Given the description of an element on the screen output the (x, y) to click on. 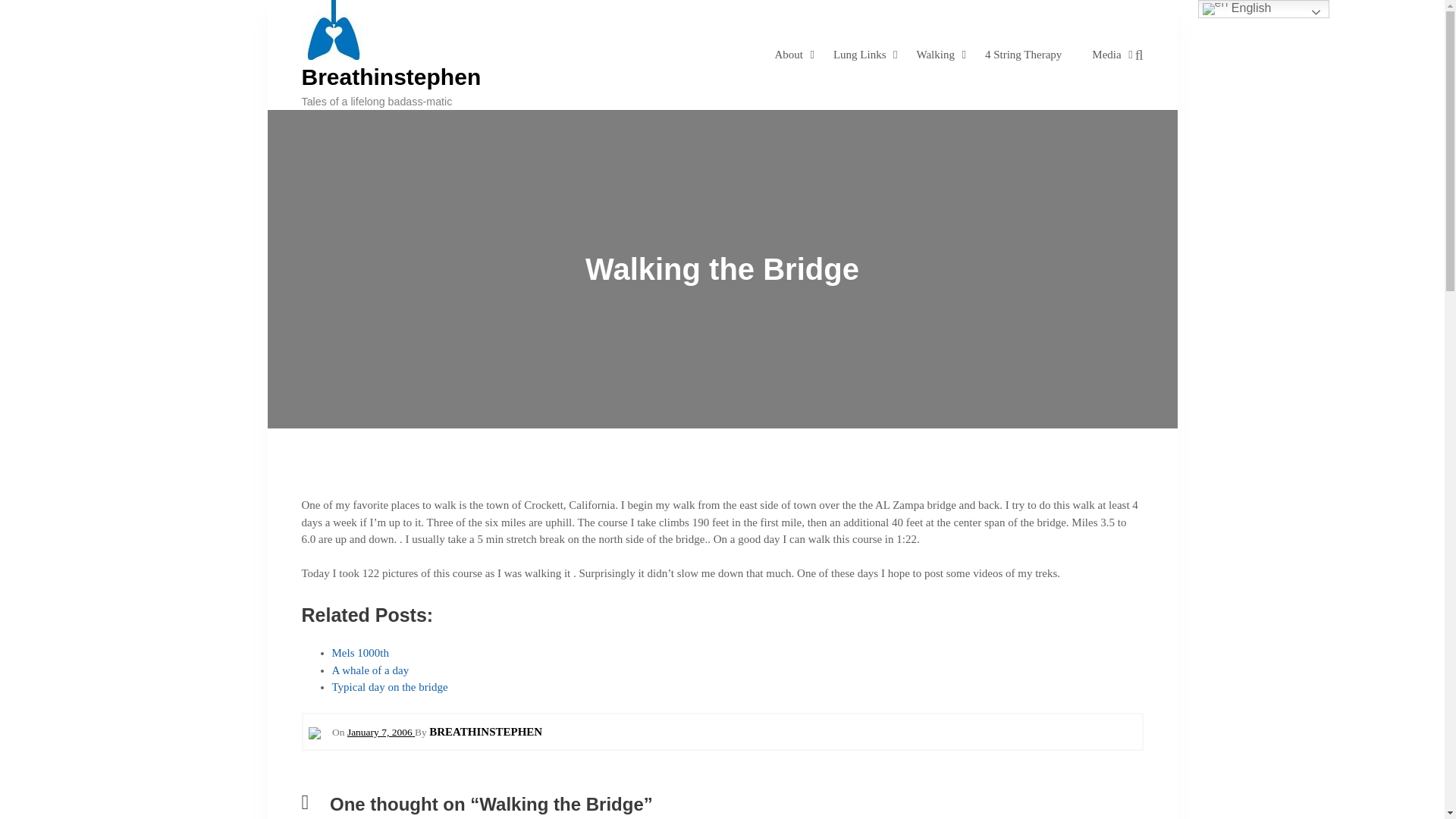
BREATHINSTEPHEN (485, 731)
January 7, 2006 (380, 731)
Typical day on the bridge (389, 686)
Walking (934, 54)
Mels 1000th (359, 653)
A whale of a day (370, 670)
Mels 1000th (359, 653)
About (788, 54)
Typical day on the bridge (389, 686)
Lung Links (859, 54)
